Given the description of an element on the screen output the (x, y) to click on. 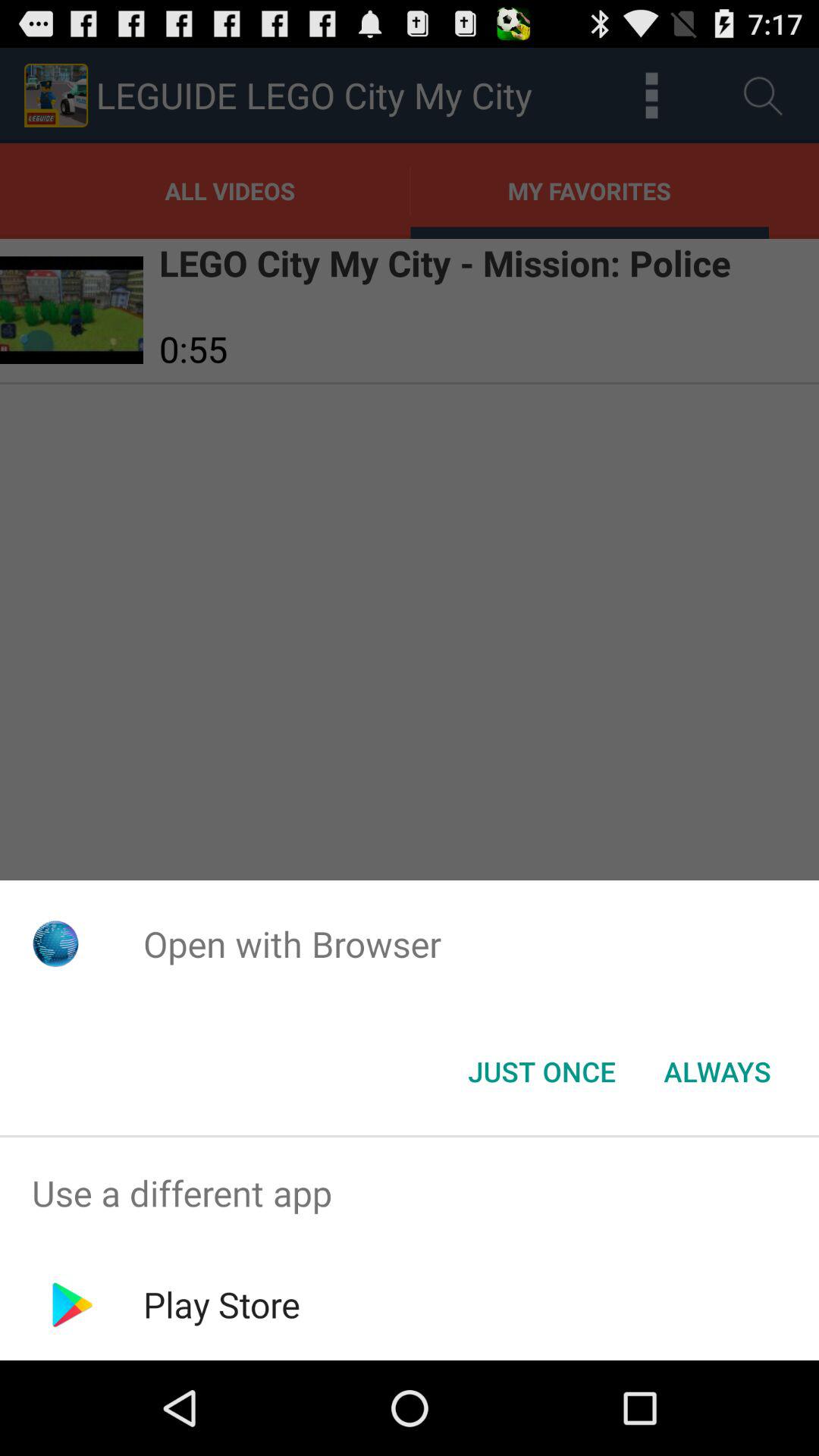
flip until just once (541, 1071)
